Given the description of an element on the screen output the (x, y) to click on. 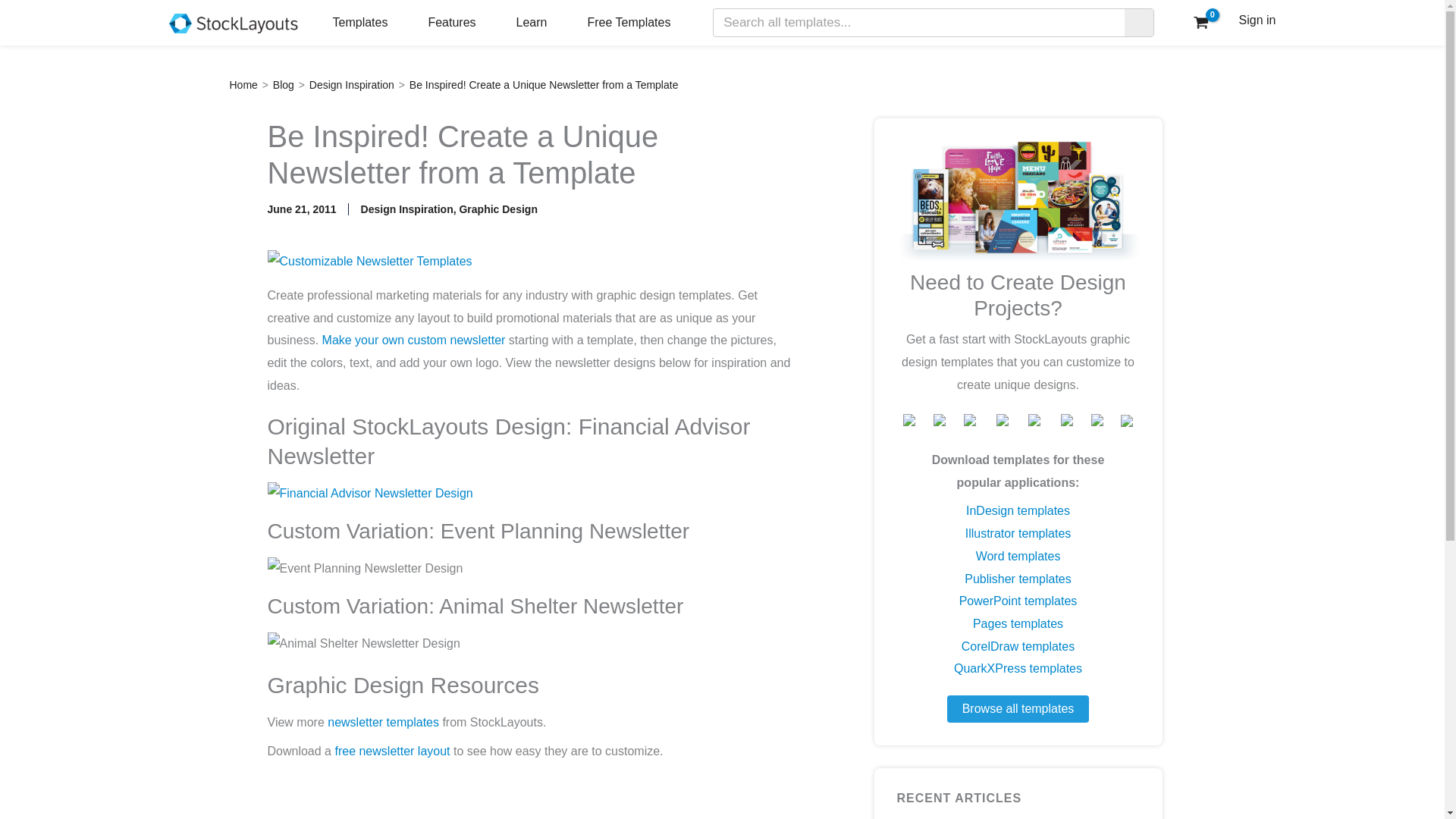
Free Templates (627, 22)
Blog (283, 84)
Home (242, 84)
Design Inspiration (351, 84)
Be Inspired! Create a Unique Newsletter from a Template (543, 84)
